Given the description of an element on the screen output the (x, y) to click on. 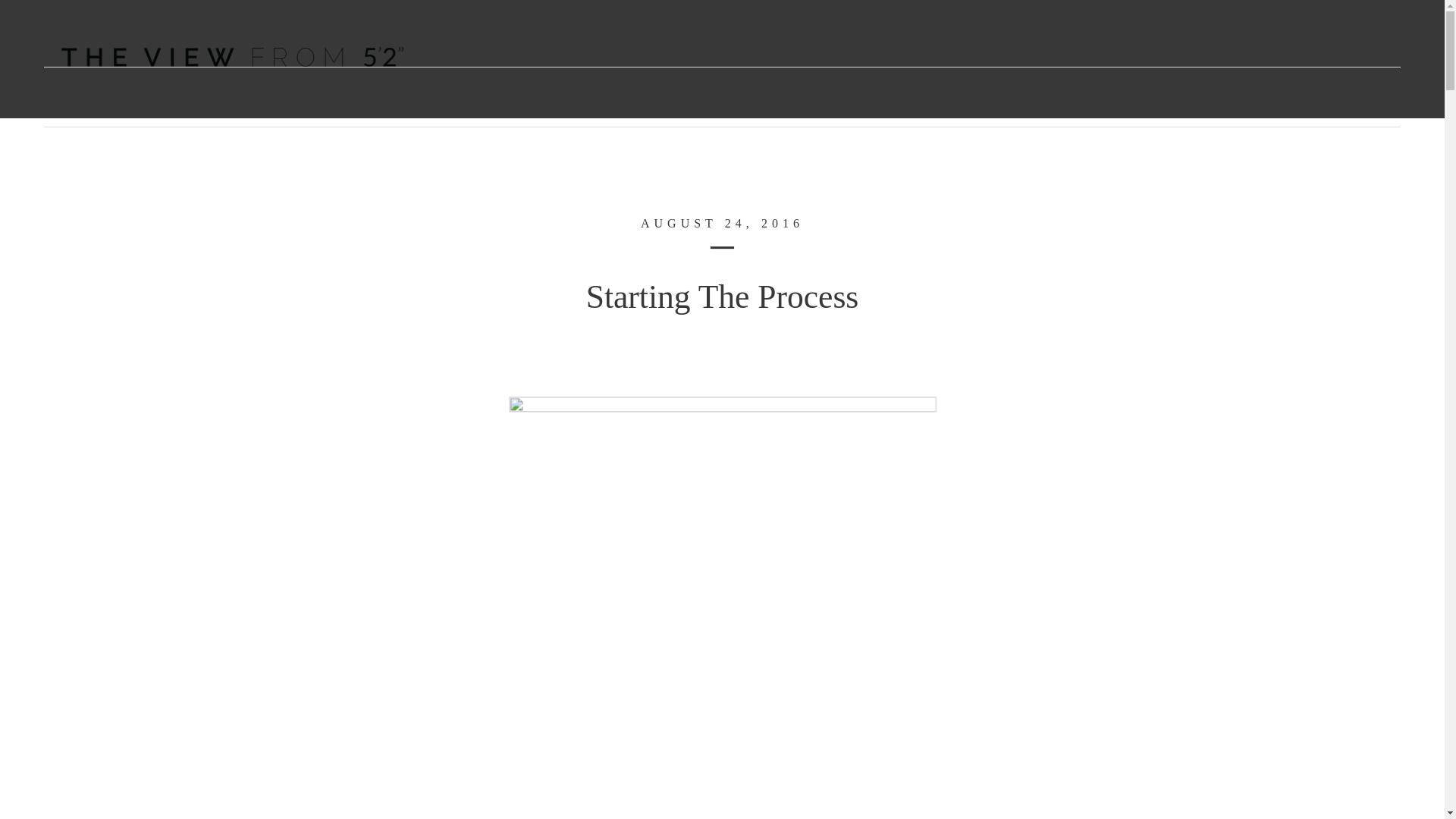
SHOP (701, 58)
STYLE (834, 58)
PERSONAL (1158, 58)
LIFESTYLE (987, 58)
ABOUT (1309, 58)
